Given the description of an element on the screen output the (x, y) to click on. 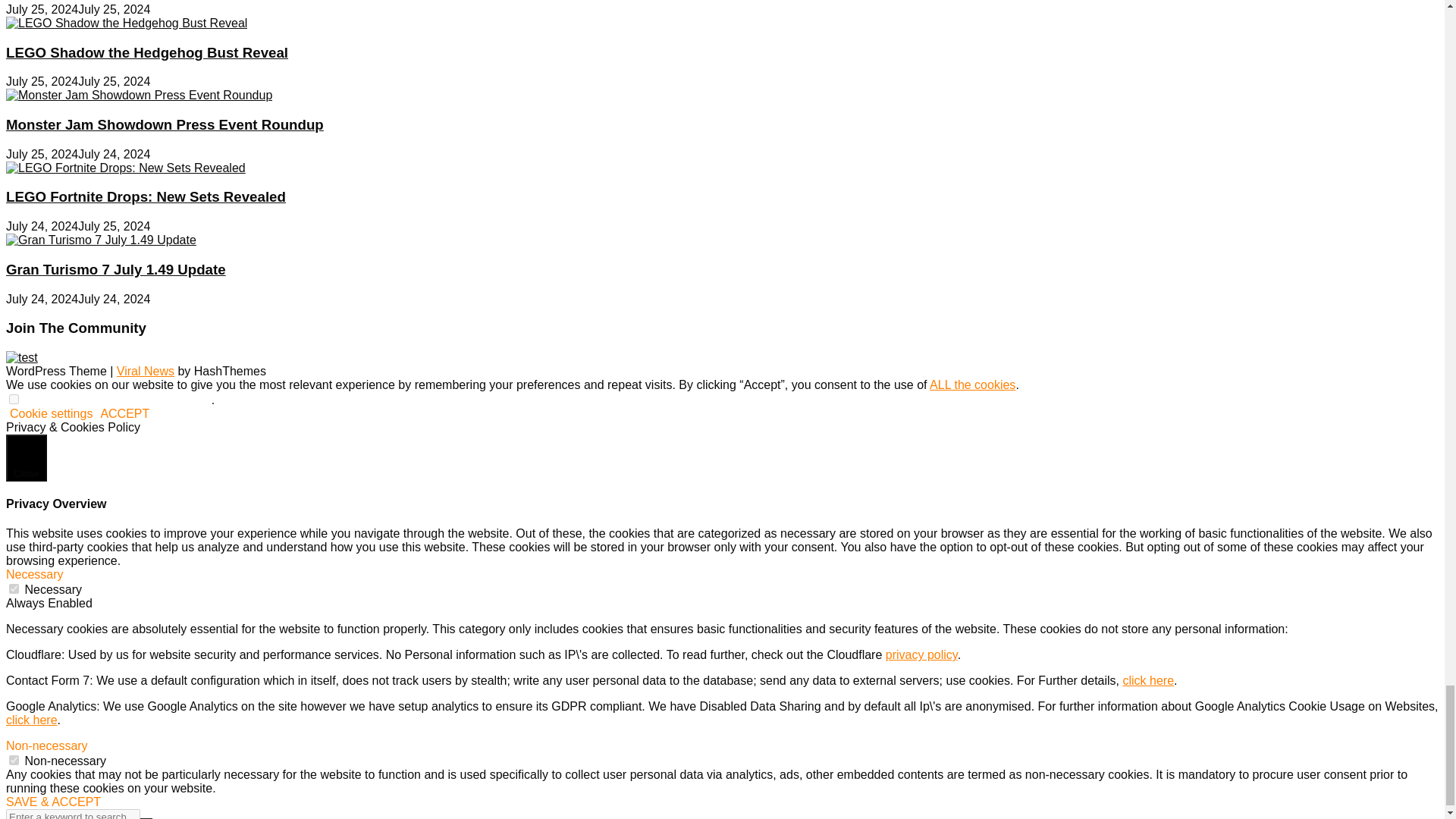
on (13, 588)
on (13, 398)
Download Viral News (145, 370)
on (13, 759)
